Given the description of an element on the screen output the (x, y) to click on. 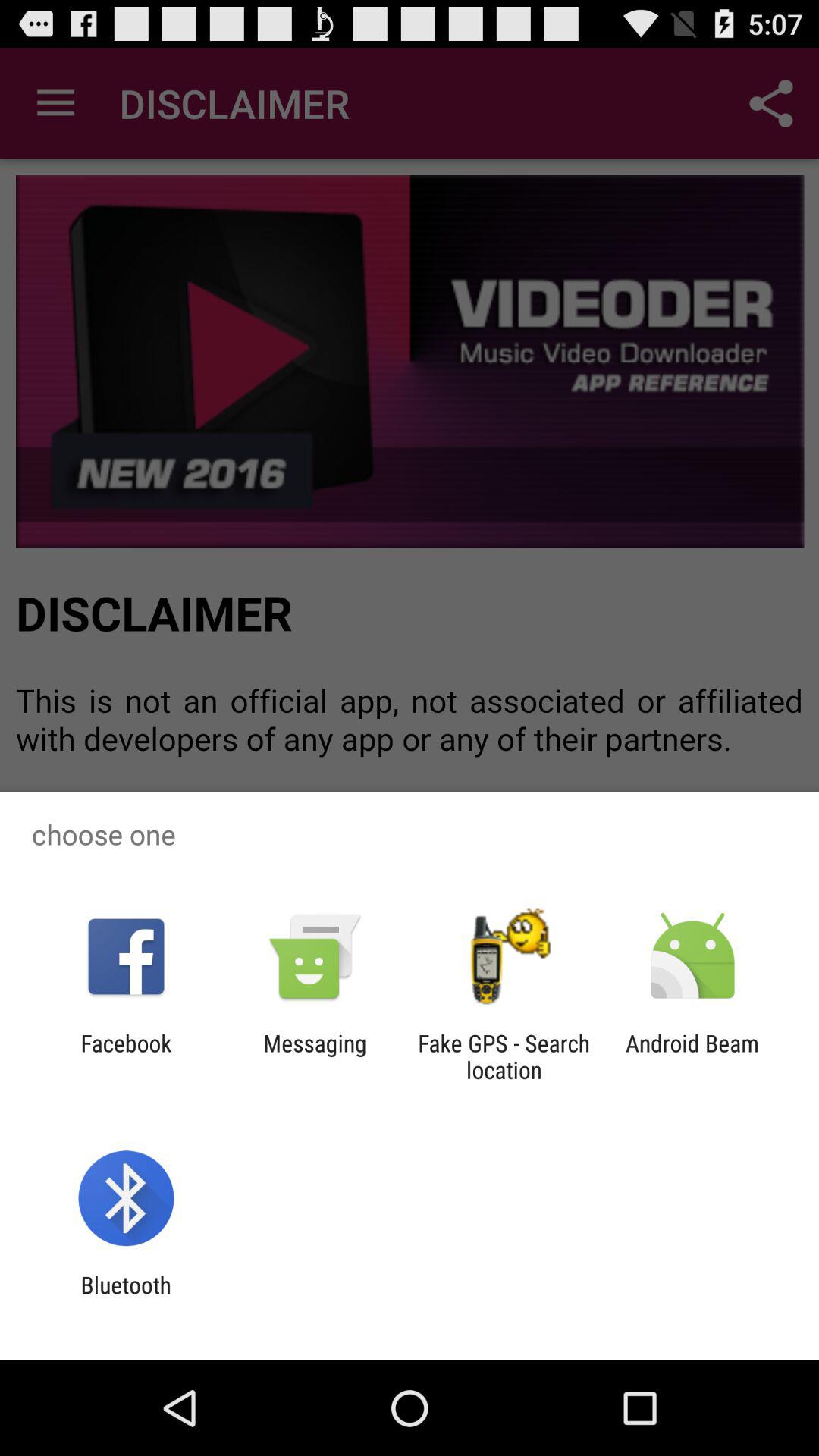
open the app at the bottom right corner (692, 1056)
